Given the description of an element on the screen output the (x, y) to click on. 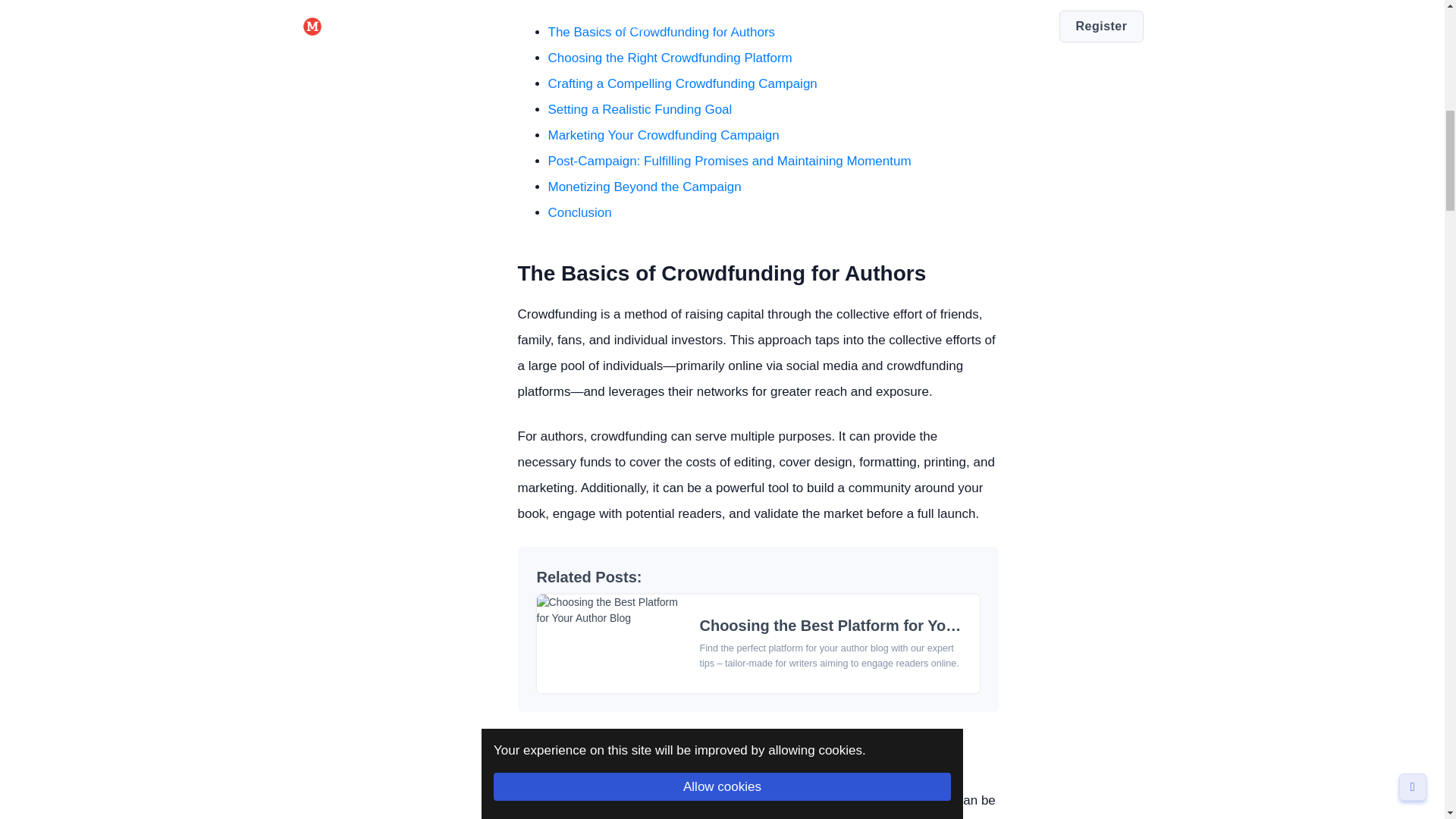
Conclusion (579, 212)
Choosing the Best Platform for Your Author Blog (874, 625)
Crafting a Compelling Crowdfunding Campaign (681, 83)
Setting a Realistic Funding Goal (639, 109)
Monetizing Beyond the Campaign (644, 186)
Choosing the Best Platform for Your Author Blog (874, 625)
The Basics of Crowdfunding for Authors (660, 32)
Post-Campaign: Fulfilling Promises and Maintaining Momentum (729, 160)
Choosing the Right Crowdfunding Platform (669, 57)
Marketing Your Crowdfunding Campaign (662, 134)
